Given the description of an element on the screen output the (x, y) to click on. 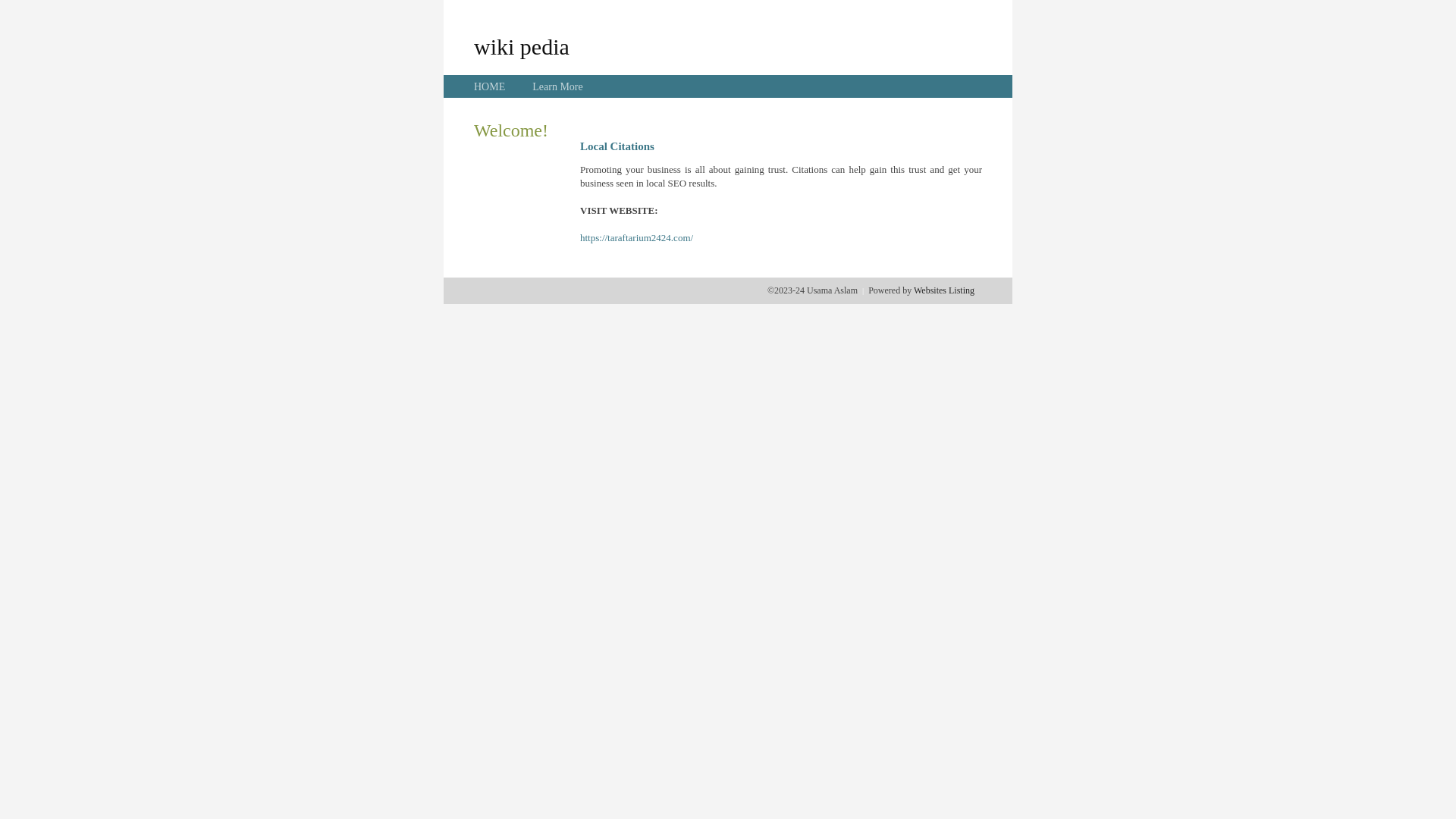
Websites Listing Element type: text (943, 290)
https://taraftarium2424.com/ Element type: text (636, 237)
HOME Element type: text (489, 86)
Learn More Element type: text (557, 86)
wiki pedia Element type: text (521, 46)
